Given the description of an element on the screen output the (x, y) to click on. 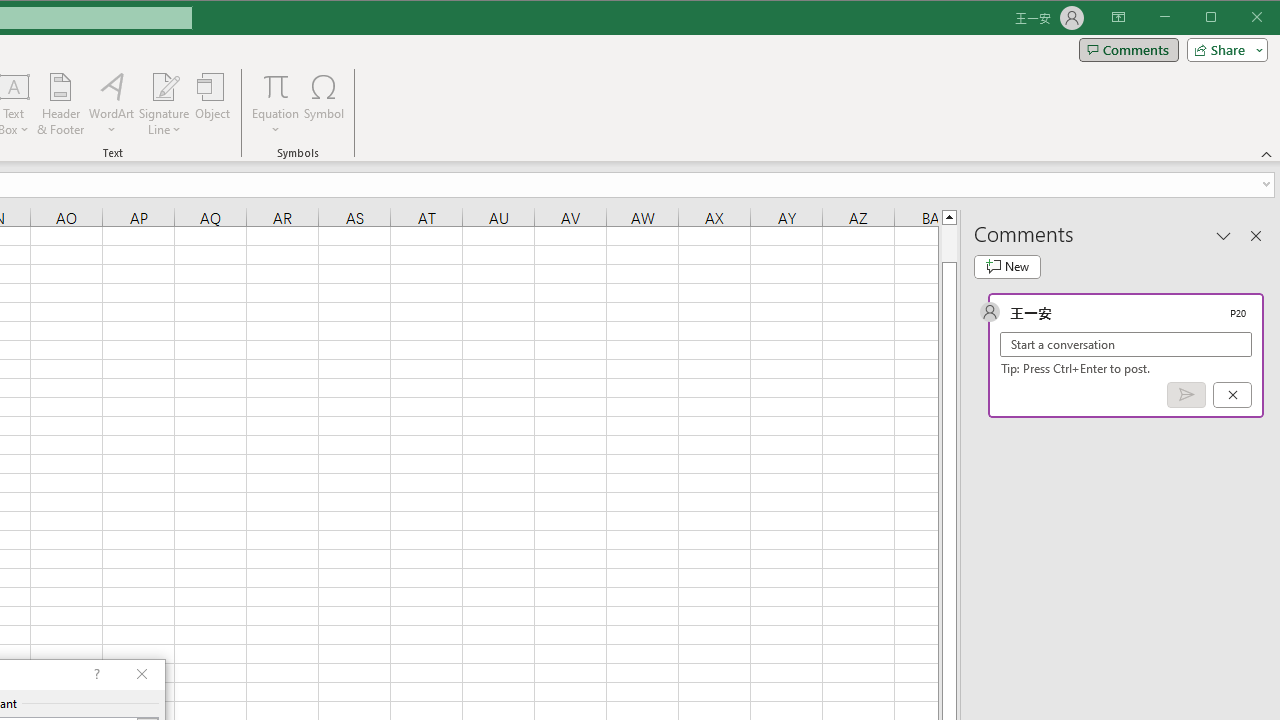
New comment (1007, 266)
Cancel (1232, 395)
Page up (948, 243)
WordArt (111, 104)
Object... (213, 104)
Start a conversation (1126, 344)
Header & Footer... (60, 104)
Signature Line (164, 104)
